Given the description of an element on the screen output the (x, y) to click on. 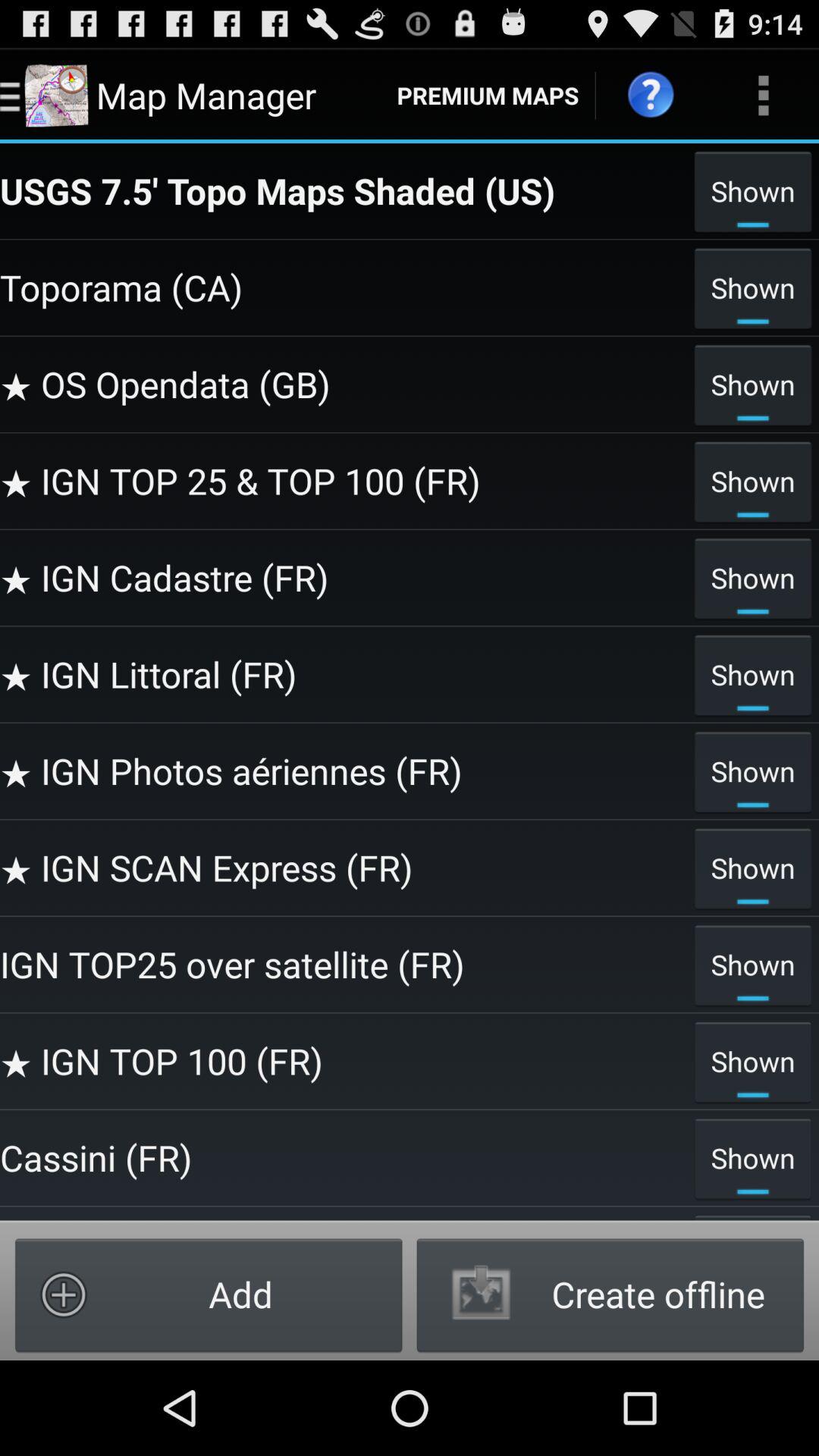
choose the item to the left of the shown item (343, 867)
